Given the description of an element on the screen output the (x, y) to click on. 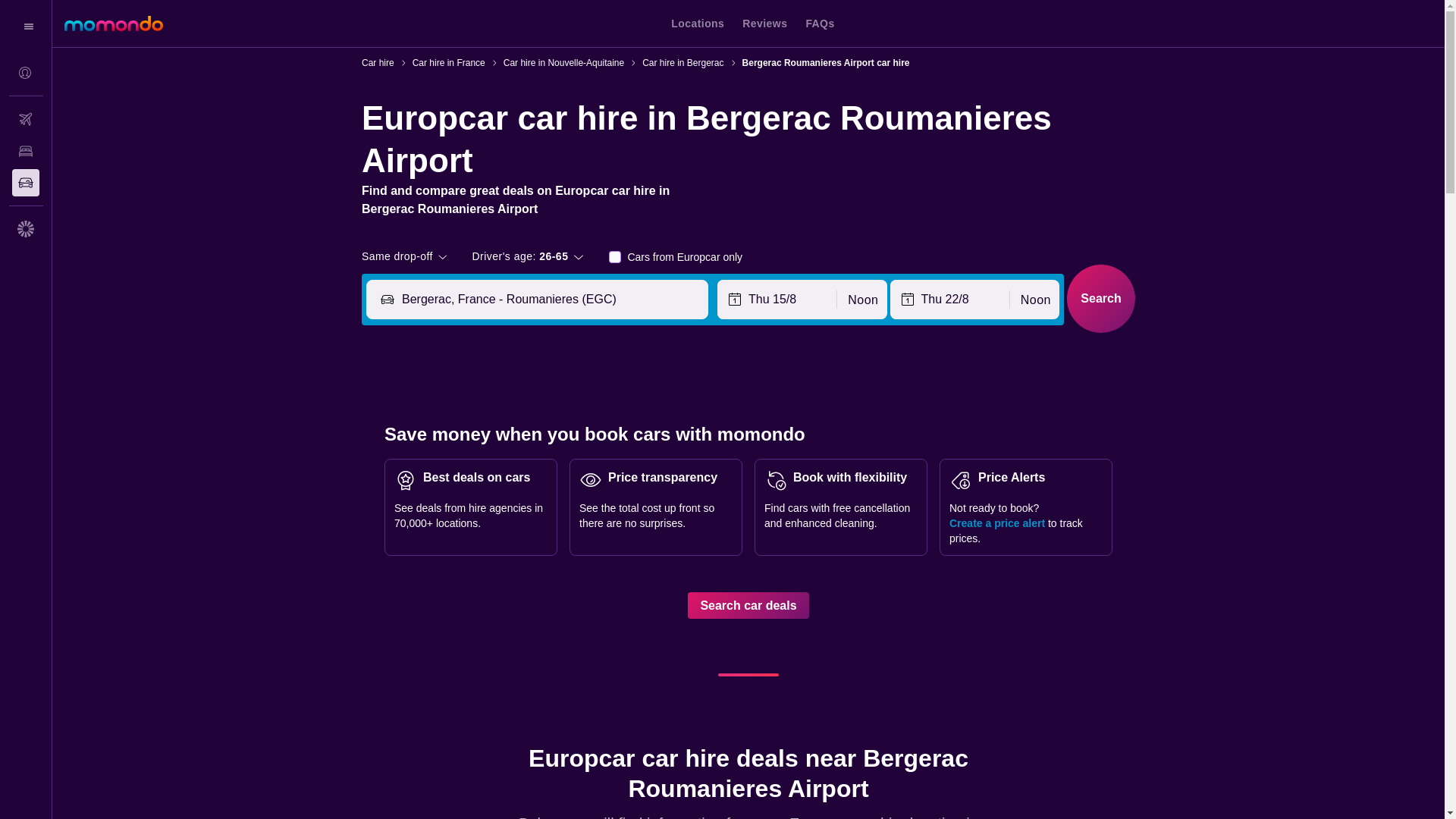
Search (1101, 298)
Car hire (377, 62)
Create a price alert (997, 522)
Search (1101, 298)
Car hire in Nouvelle-Aquitaine (563, 62)
Car hire in France (448, 62)
Search car deals (747, 605)
Car hire in Bergerac (682, 62)
